Given the description of an element on the screen output the (x, y) to click on. 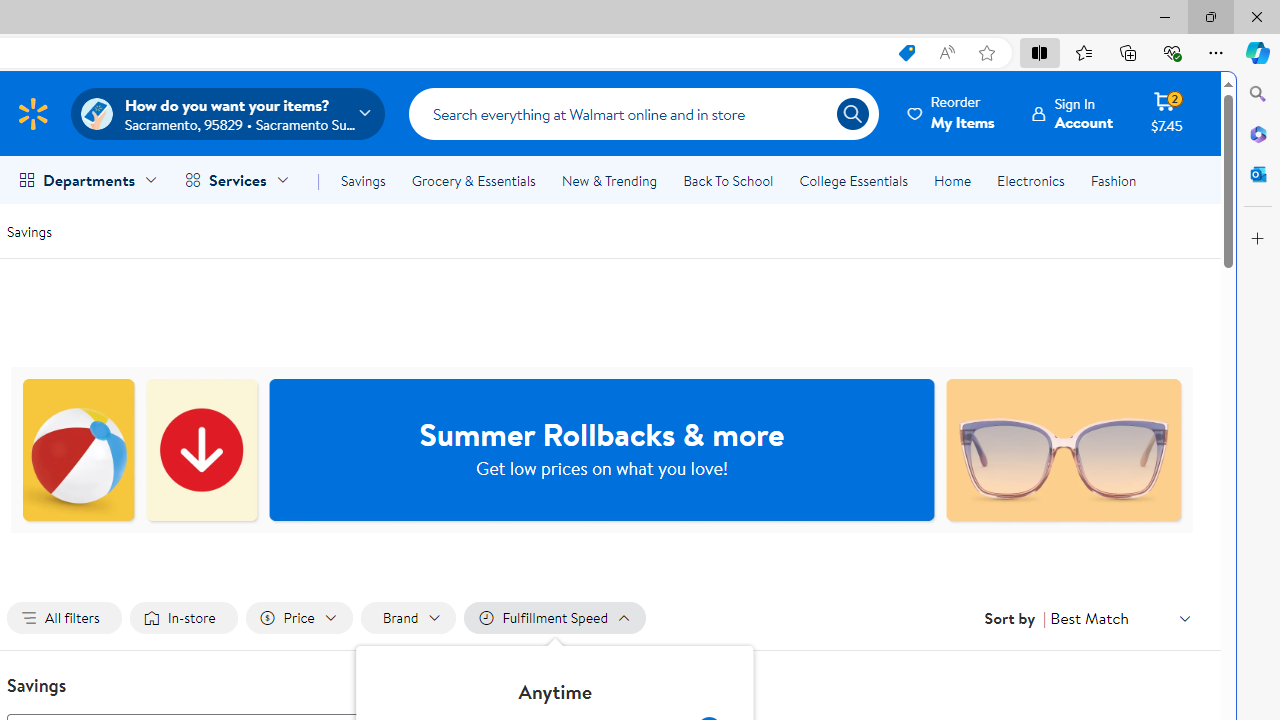
Grocery & Essentials (473, 180)
Filter by Fulfillment Speed not applied, activate to change (554, 618)
Electronics (1030, 180)
All filters none applied, activate to change (63, 618)
Filter by In-store (183, 618)
New & Trending (608, 180)
Filter by Brand not applied, activate to change (407, 618)
Cart contains 2 items Total Amount $7.45 (1166, 113)
Search icon (852, 113)
Sign In Account (1072, 113)
Fashion (1113, 180)
